Given the description of an element on the screen output the (x, y) to click on. 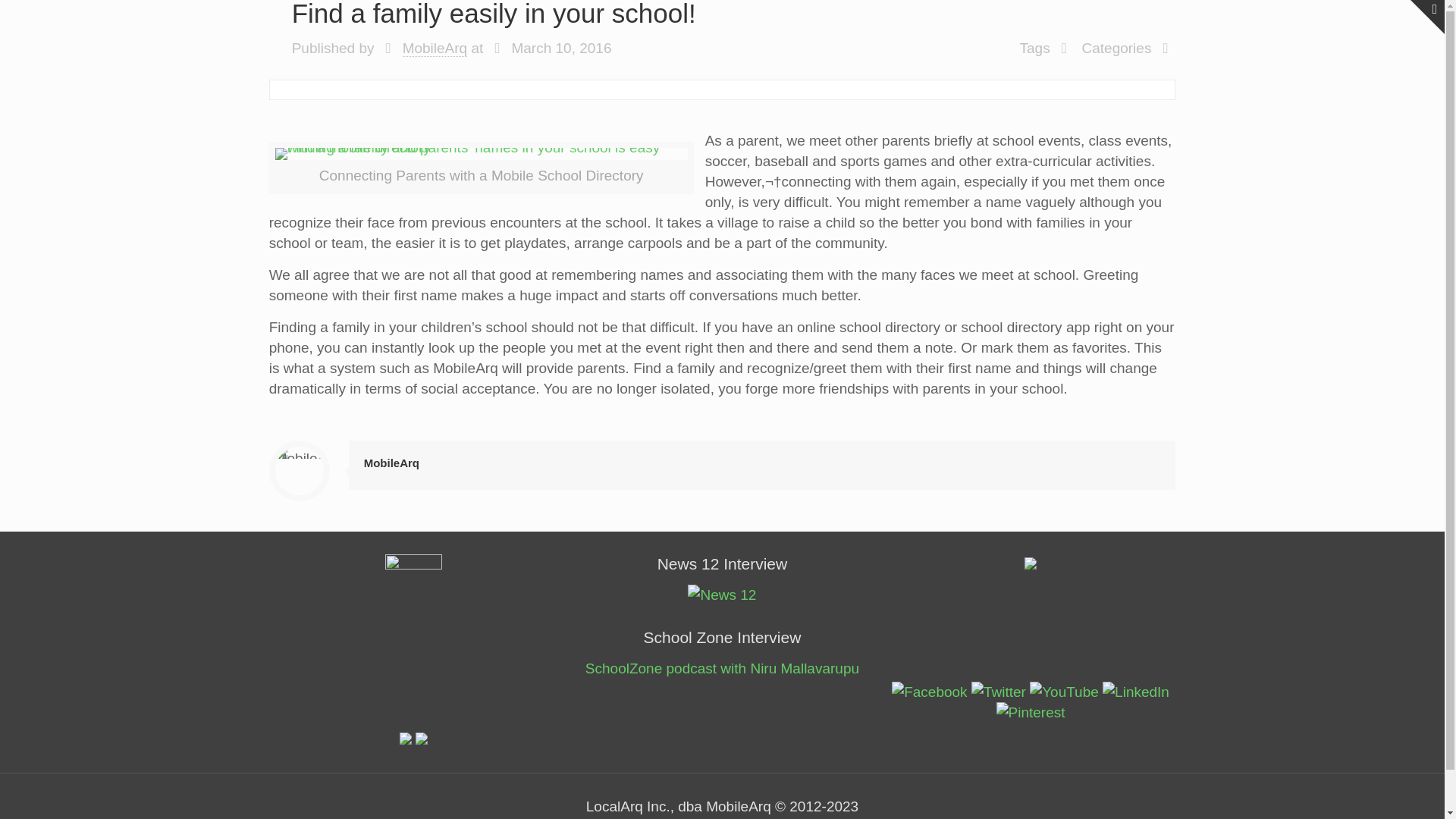
Twitter (998, 691)
Facebook (928, 691)
Pinterest (1030, 711)
YouTube (1064, 691)
LinkedIn (1135, 691)
SchoolZone podcast with Niru Mallavarupu (722, 668)
MobileArq (391, 462)
MobileArq (435, 48)
News 12 (721, 594)
